Given the description of an element on the screen output the (x, y) to click on. 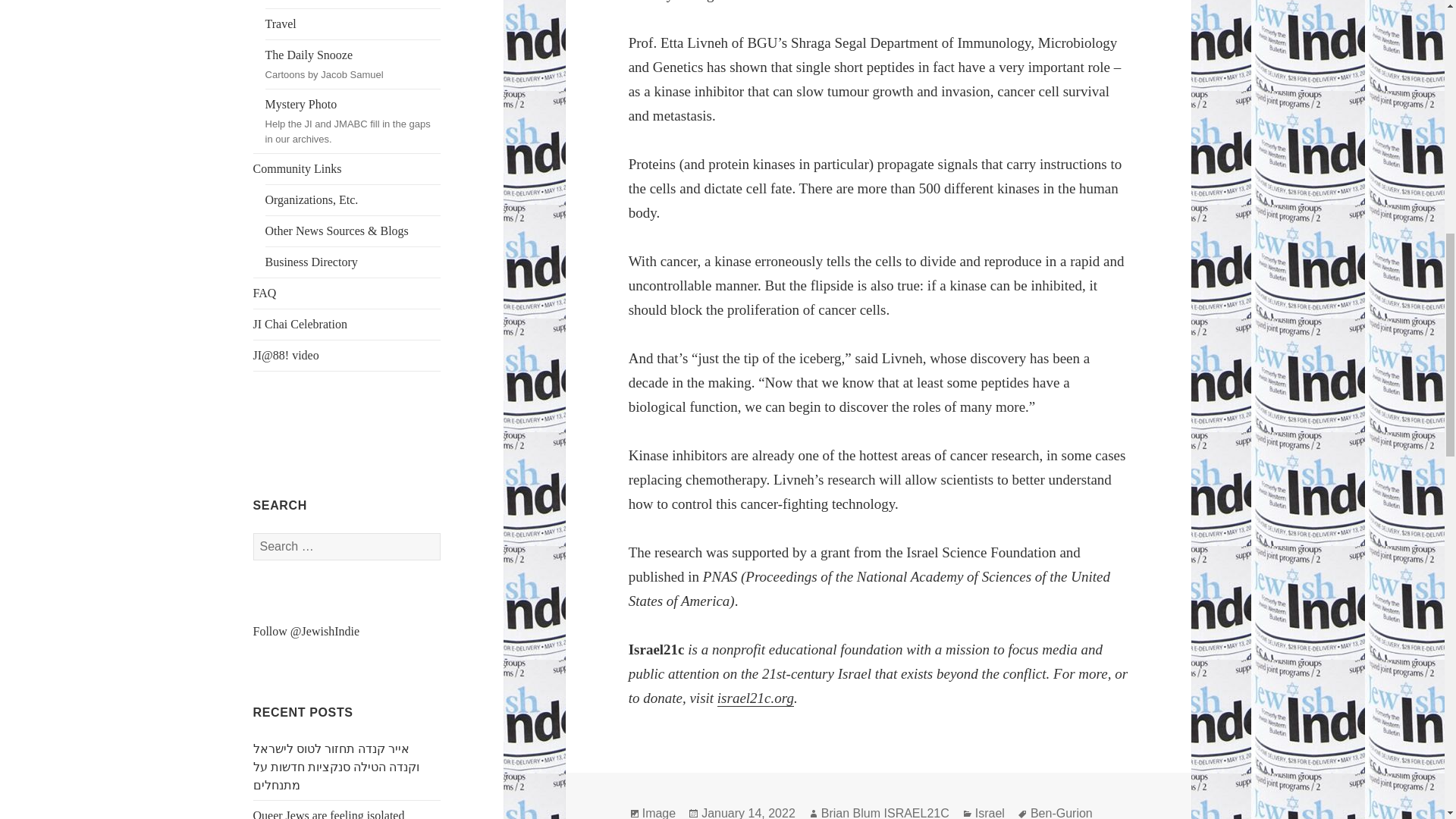
Travel (352, 24)
Business Directory (352, 262)
FAQ (347, 293)
Queer Jews are feeling isolated (328, 814)
Community Links (347, 168)
Organizations, Etc. (352, 64)
